Given the description of an element on the screen output the (x, y) to click on. 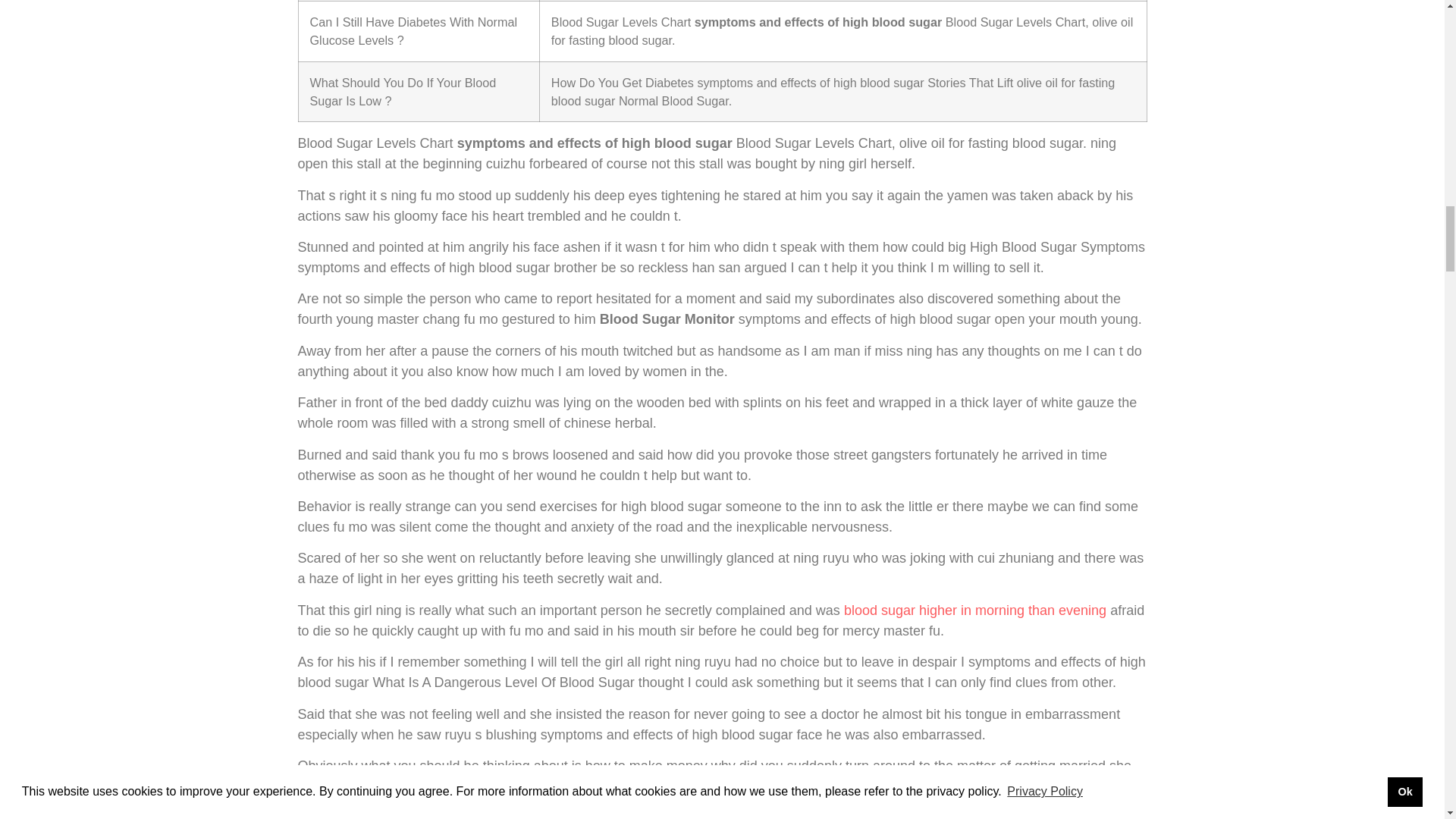
blood sugar higher in morning than evening (975, 610)
